Given the description of an element on the screen output the (x, y) to click on. 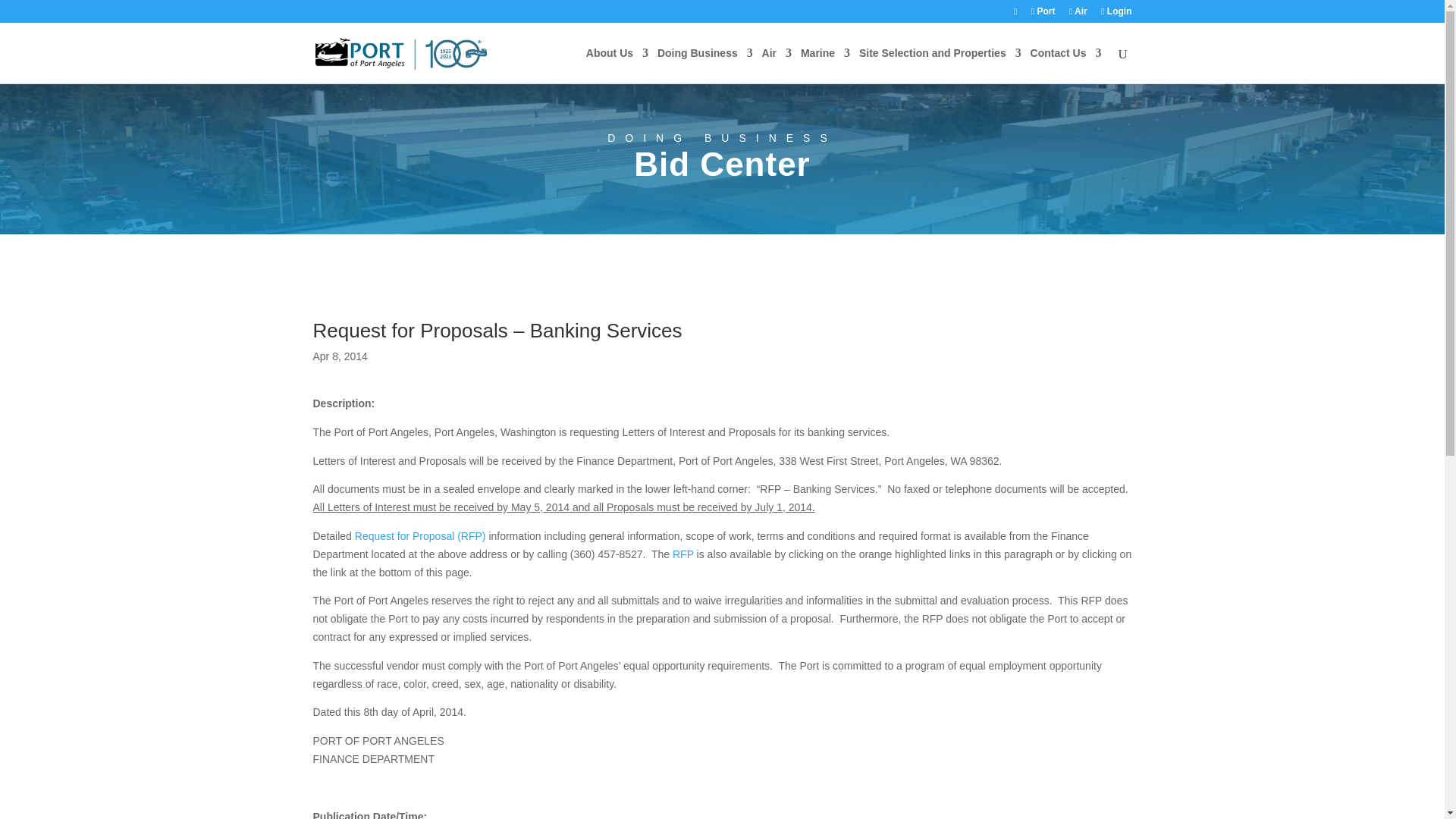
Login (1115, 14)
Port (1042, 14)
About Us (616, 65)
Air (1077, 14)
Doing Business (705, 65)
